Given the description of an element on the screen output the (x, y) to click on. 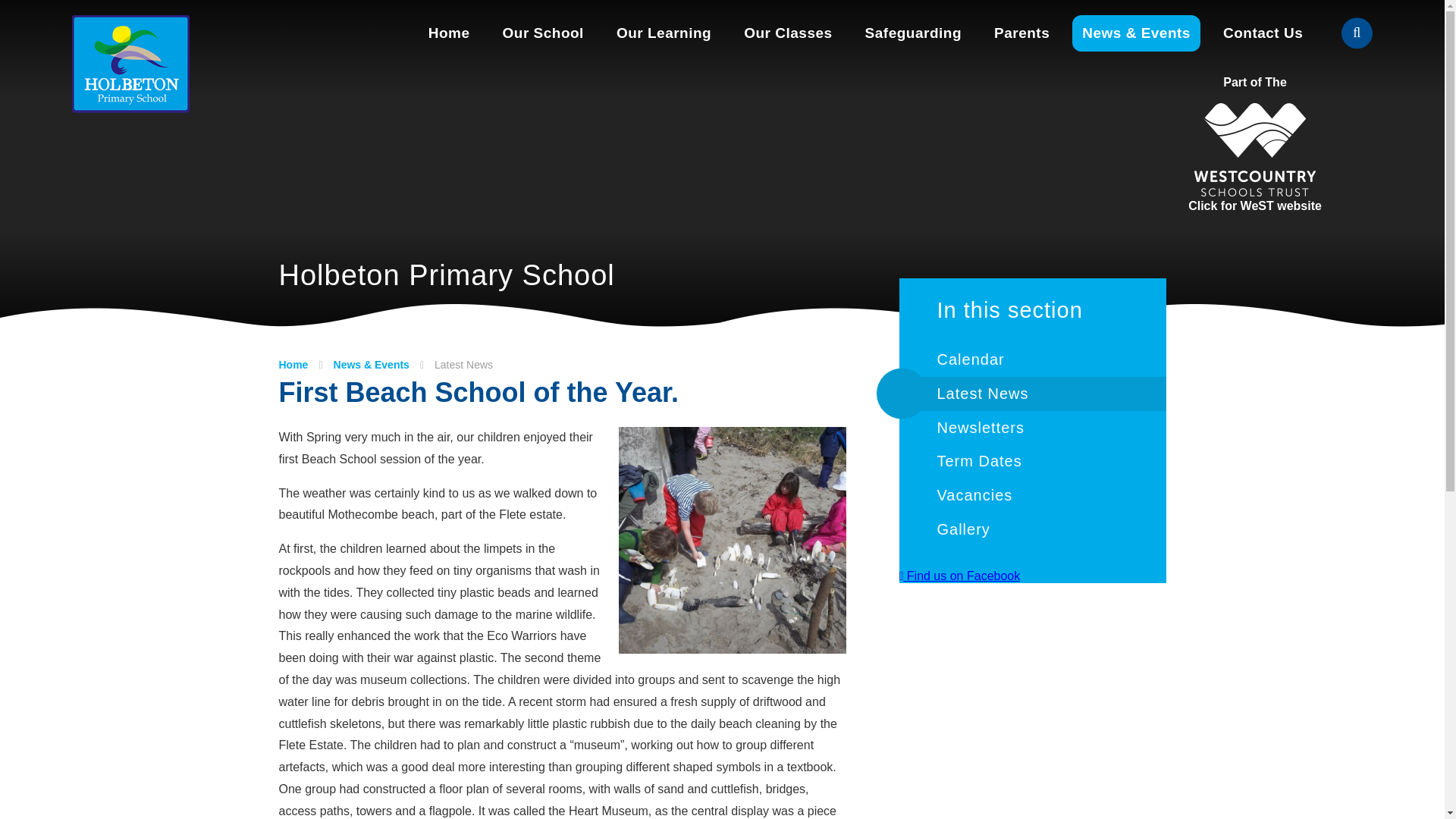
Our Learning (662, 33)
Home (448, 33)
Our School (543, 33)
